Given the description of an element on the screen output the (x, y) to click on. 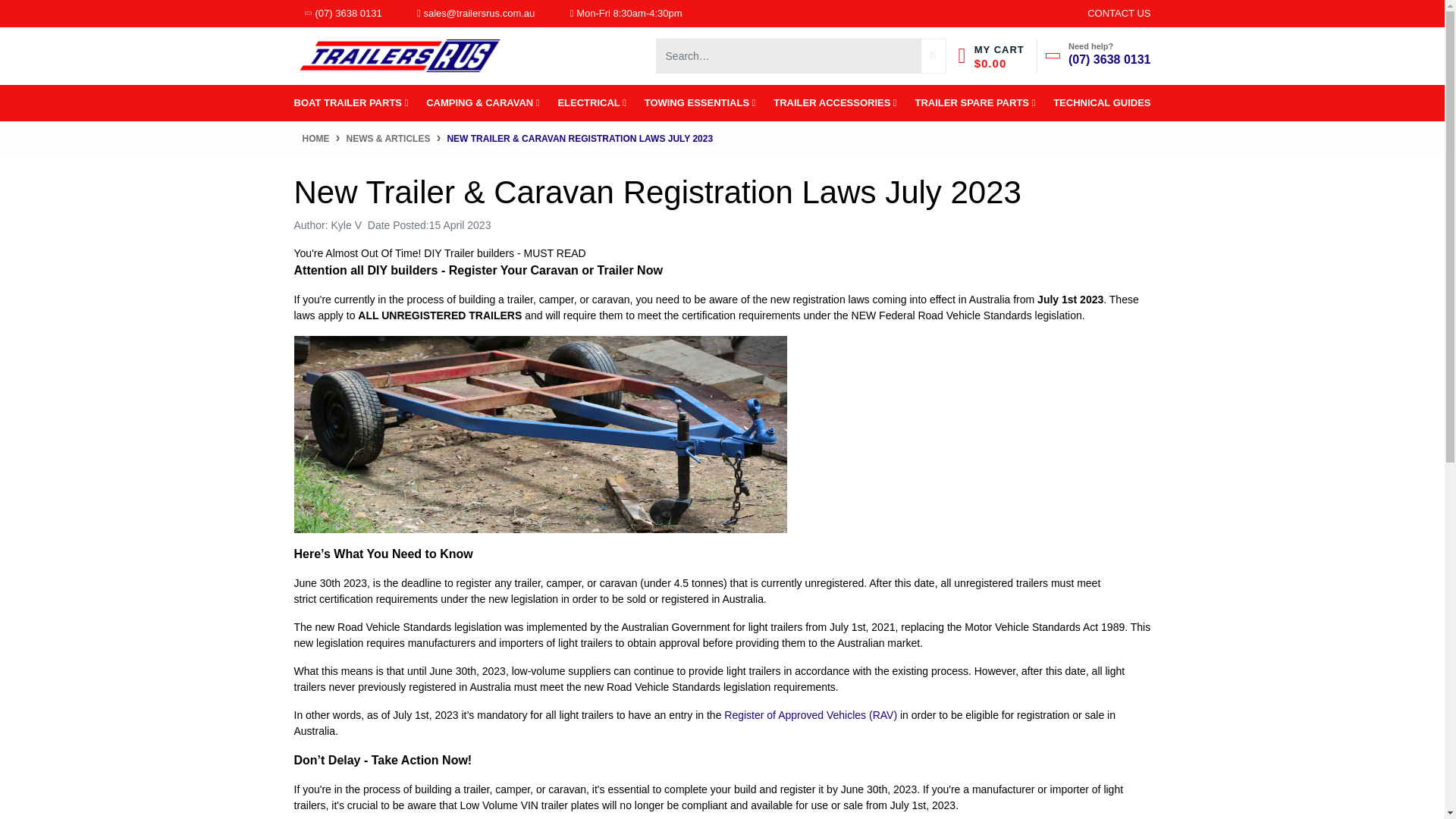
Trailers R Us (398, 54)
 Mon-Fri 8:30am-4:30pm (625, 13)
BOAT TRAILER PARTS (354, 103)
Search (933, 54)
CONTACT US (1118, 13)
